Given the description of an element on the screen output the (x, y) to click on. 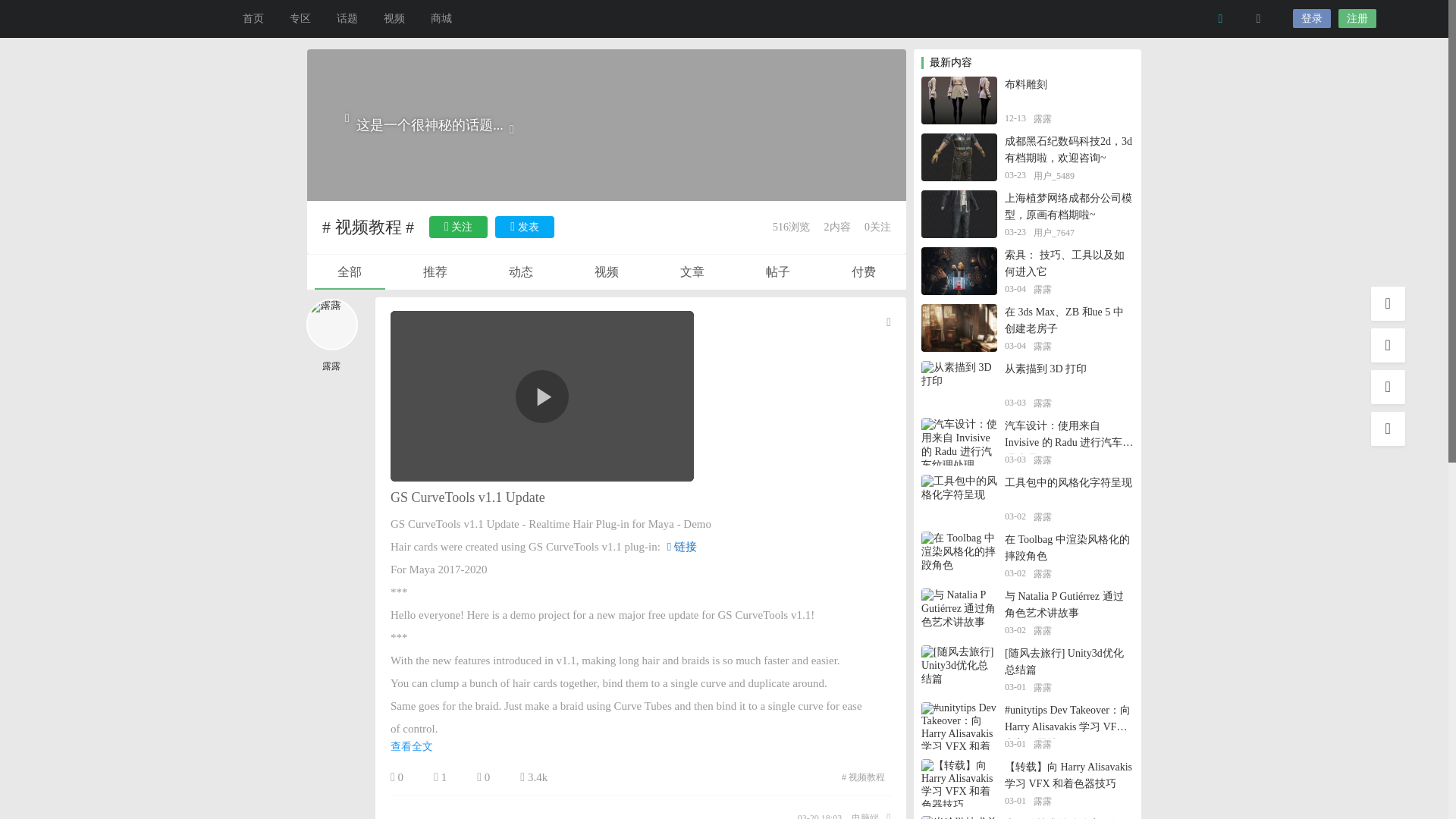
2022-03-23 10:49:32 (1015, 232)
2022-03-02 11:16:30 (1015, 631)
2022-03-23 10:49:39 (1015, 175)
3.4k (533, 776)
2022-03-04 10:16:18 (1015, 346)
2022-03-01 11:54:16 (1015, 687)
GS CurveTools v1.1 Update (467, 497)
2022-03-01 11:49:29 (1015, 801)
2022-03-03 16:39:20 (1015, 460)
2022-03-03 16:42:37 (1015, 403)
